Given the description of an element on the screen output the (x, y) to click on. 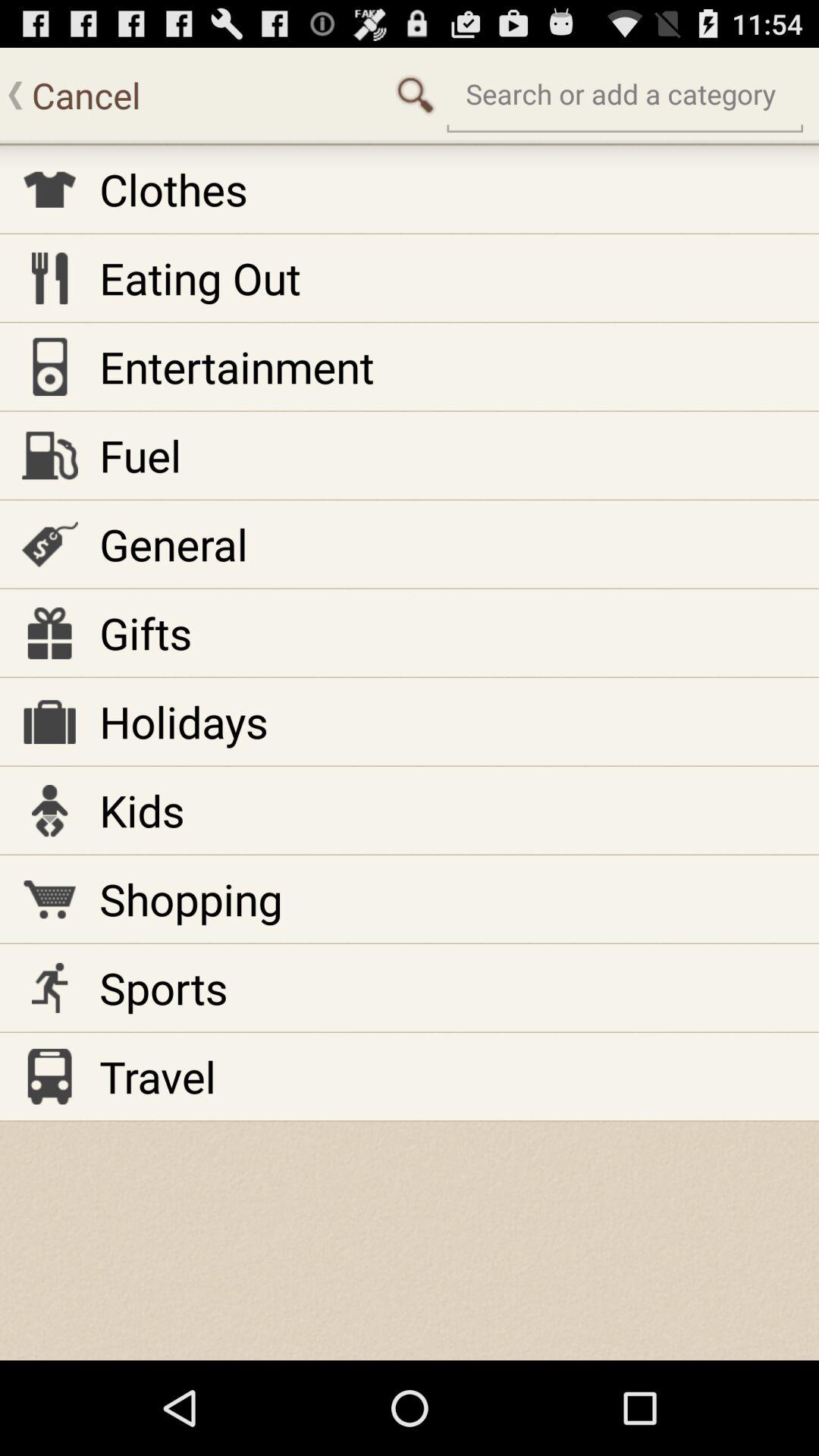
click the entertainment item (236, 366)
